Given the description of an element on the screen output the (x, y) to click on. 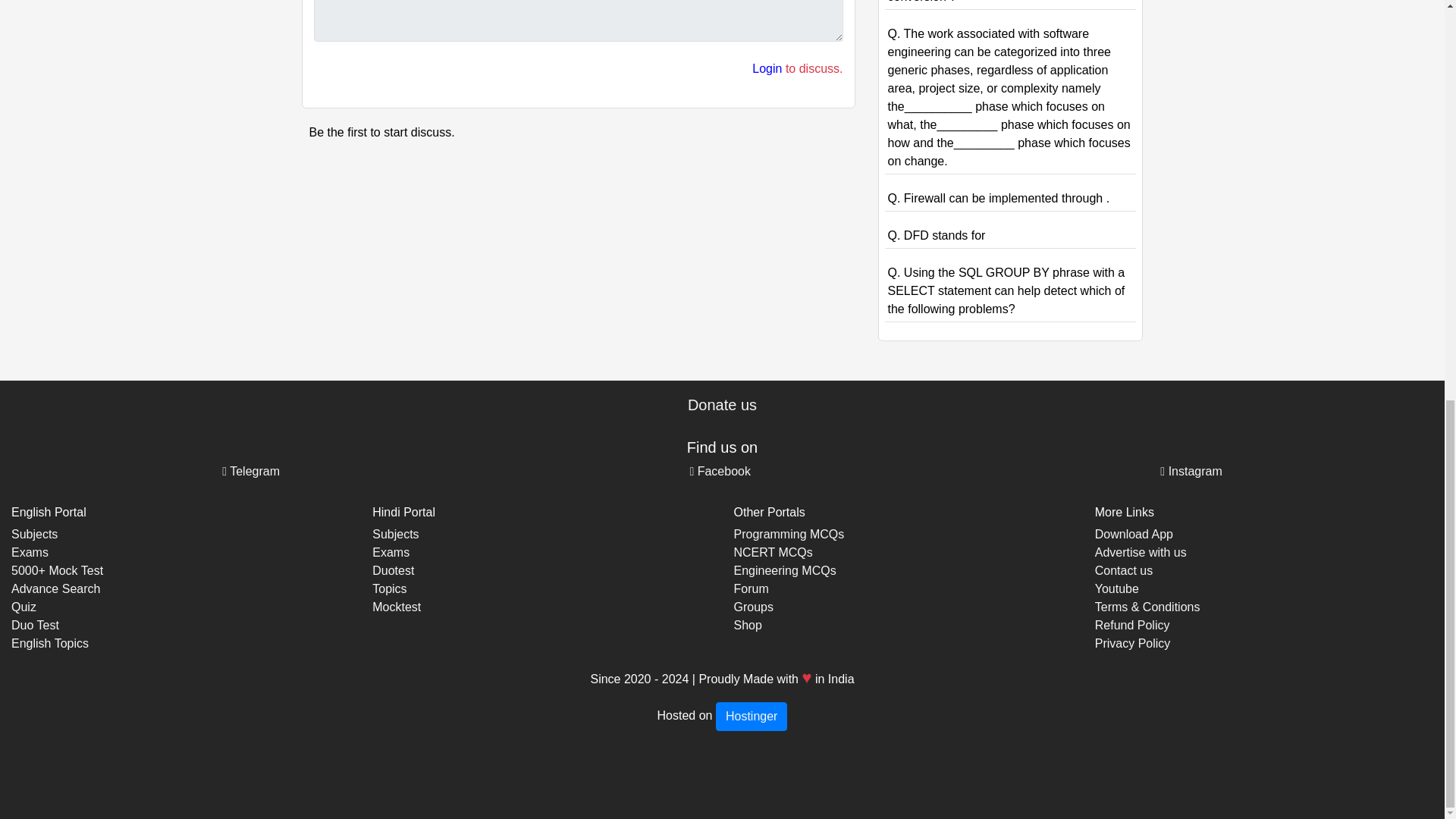
Q. What will be output of the following conversion ? (988, 1)
Subjects (34, 533)
Q. DFD stands for (935, 235)
Advertisement (577, 267)
Telegram (250, 471)
Q. Firewall can be implemented through . (997, 197)
Watch our videos on youtube (1116, 588)
Login (766, 68)
Facebook (719, 471)
Instagram (1190, 471)
